Given the description of an element on the screen output the (x, y) to click on. 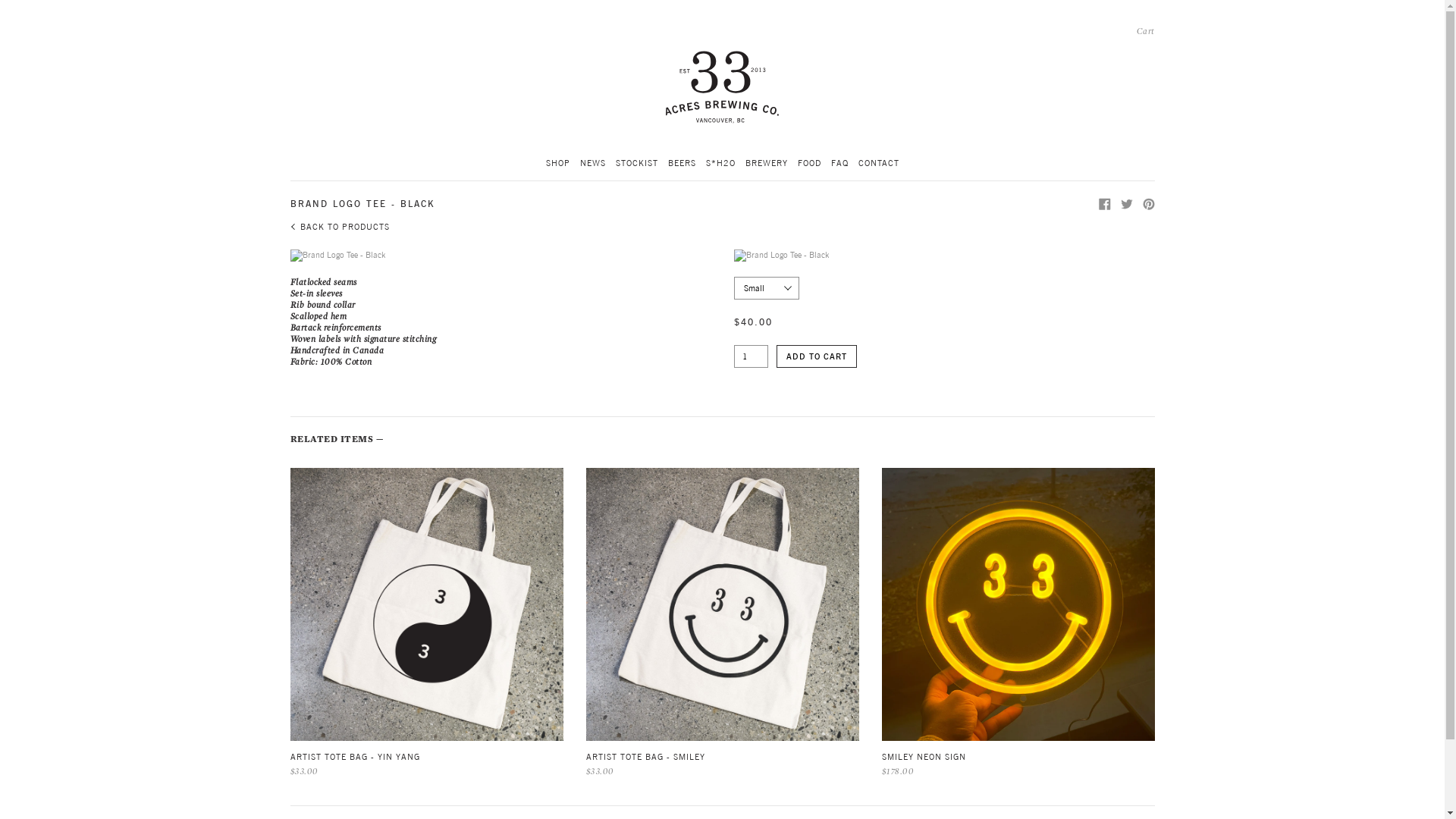
NEWS Element type: text (592, 163)
FOOD Element type: text (809, 163)
Cart Element type: text (1144, 31)
CONTACT Element type: text (878, 163)
BEERS Element type: text (681, 163)
S*H2O Element type: text (719, 163)
SHOP Element type: text (558, 163)
BREWERY Element type: text (765, 163)
STOCKIST Element type: text (636, 163)
SMILEY NEON SIGN Element type: text (1017, 756)
ARTIST TOTE BAG - SMILEY Element type: text (721, 756)
BACK TO PRODUCTS Element type: text (339, 226)
FAQ Element type: text (839, 163)
ARTIST TOTE BAG - YIN YANG Element type: text (425, 756)
ADD TO CART Element type: text (816, 356)
